Given the description of an element on the screen output the (x, y) to click on. 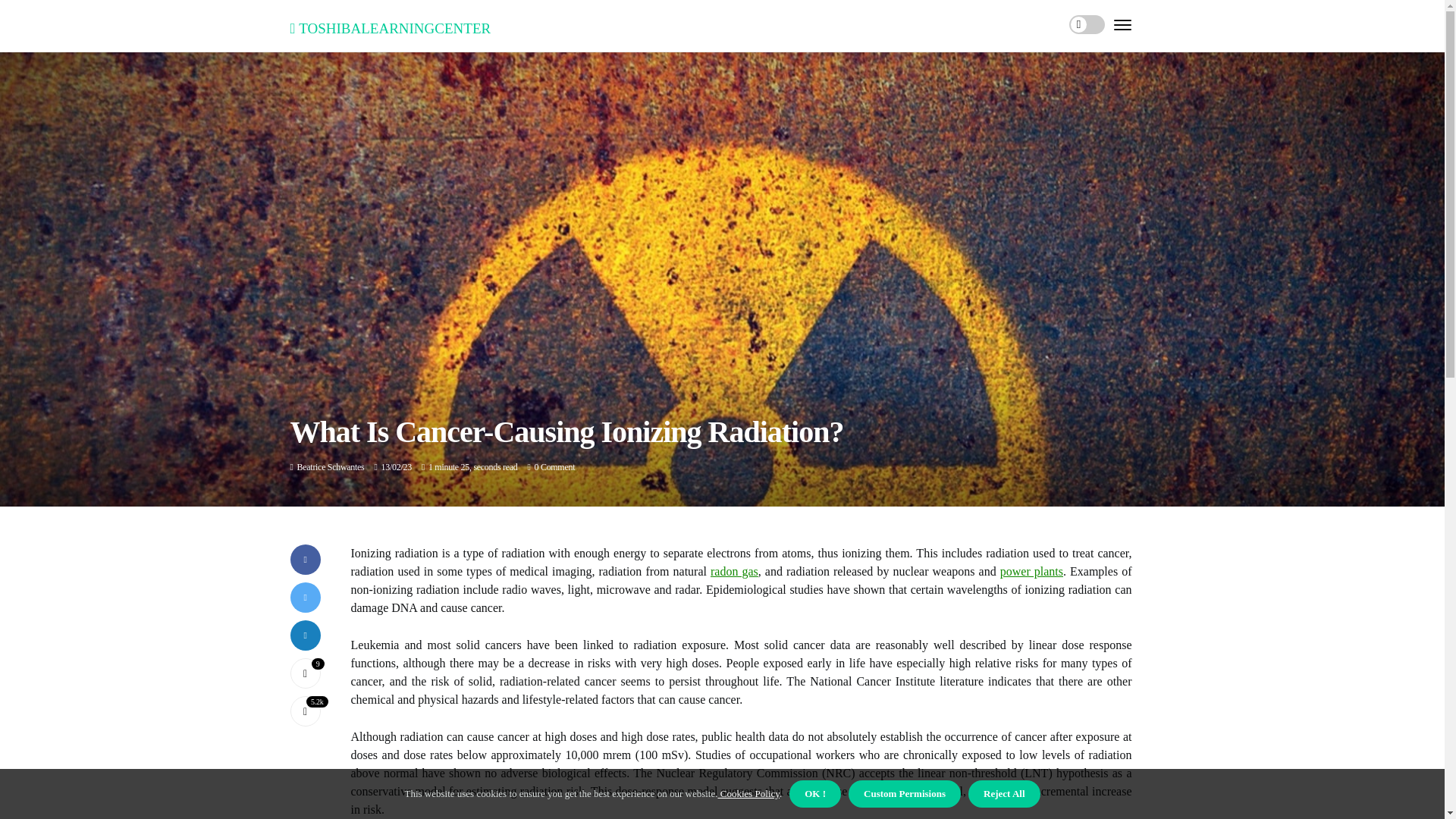
9 (304, 673)
power plants (1031, 571)
Like (304, 673)
radon gas (734, 571)
toshibalearningcenter (389, 26)
Posts by Beatrice Schwantes (331, 466)
Beatrice Schwantes (331, 466)
0 Comment (554, 466)
